Given the description of an element on the screen output the (x, y) to click on. 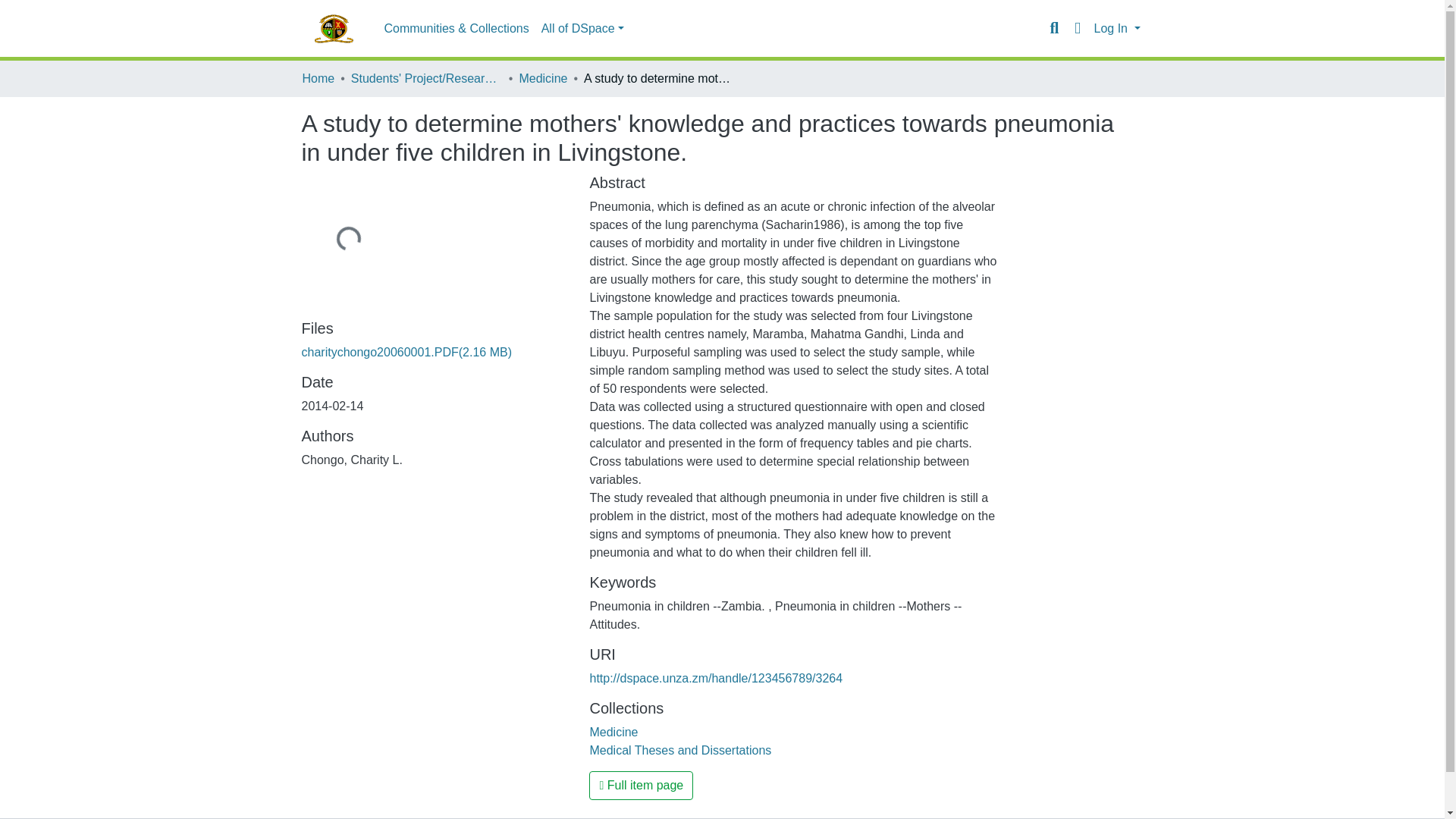
All of DSpace (582, 28)
Language switch (1077, 28)
Home (317, 78)
Medicine (613, 731)
Log In (1116, 28)
Full item page (641, 785)
Search (1053, 28)
Medicine (542, 78)
Medical Theses and Dissertations (680, 749)
